Given the description of an element on the screen output the (x, y) to click on. 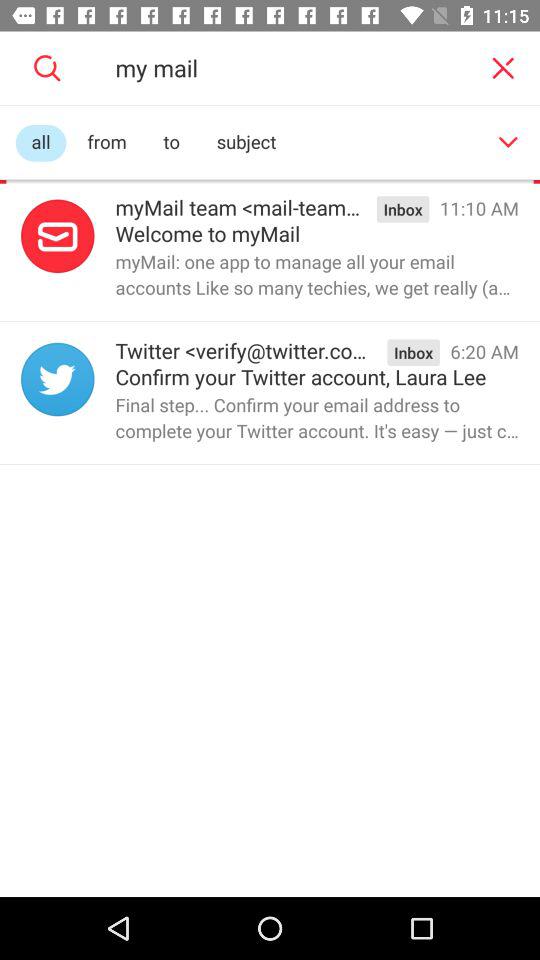
select item to the right of subject icon (507, 142)
